Given the description of an element on the screen output the (x, y) to click on. 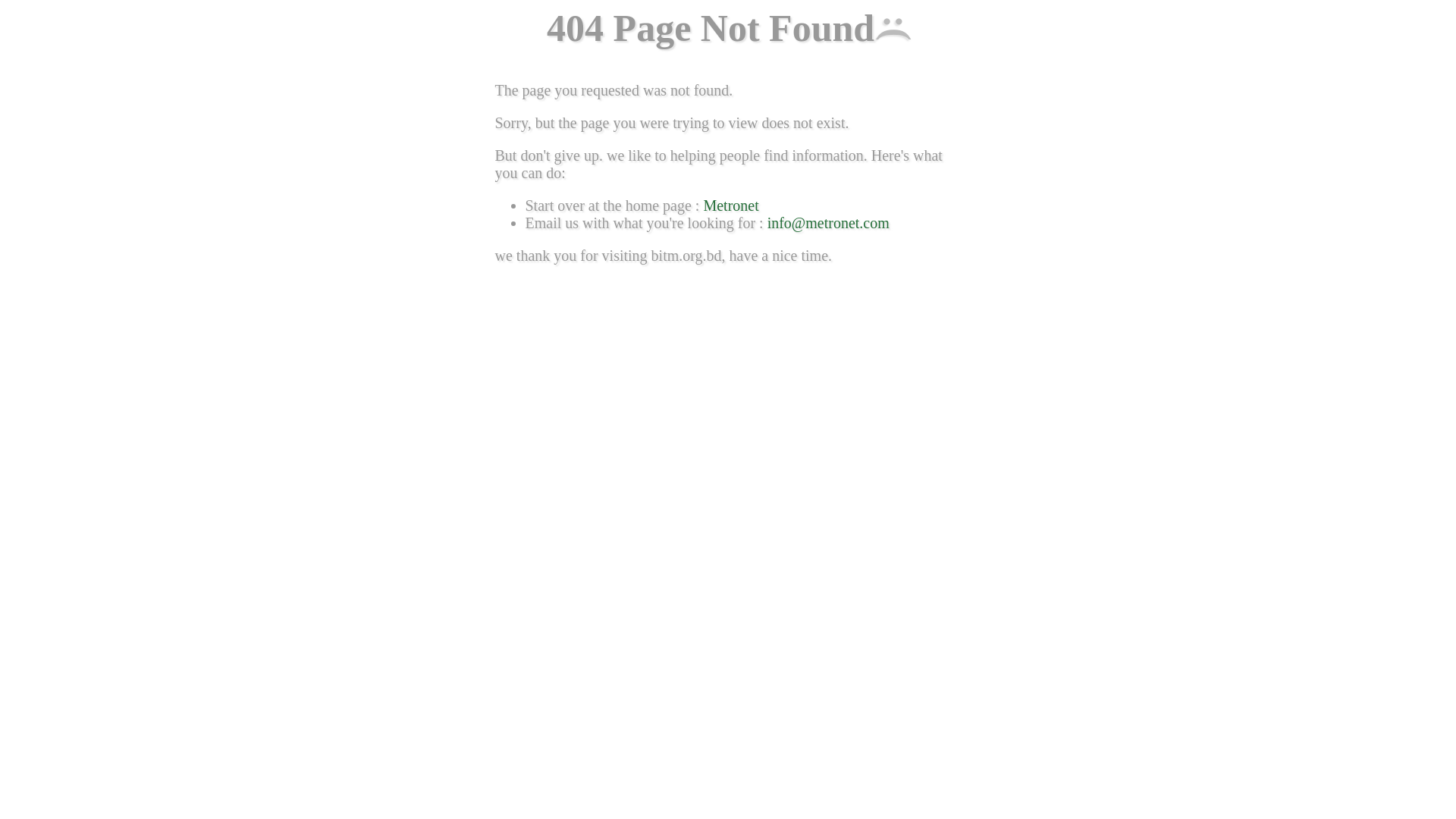
info@metronet.com Element type: text (828, 221)
Metronet Element type: text (730, 205)
